Given the description of an element on the screen output the (x, y) to click on. 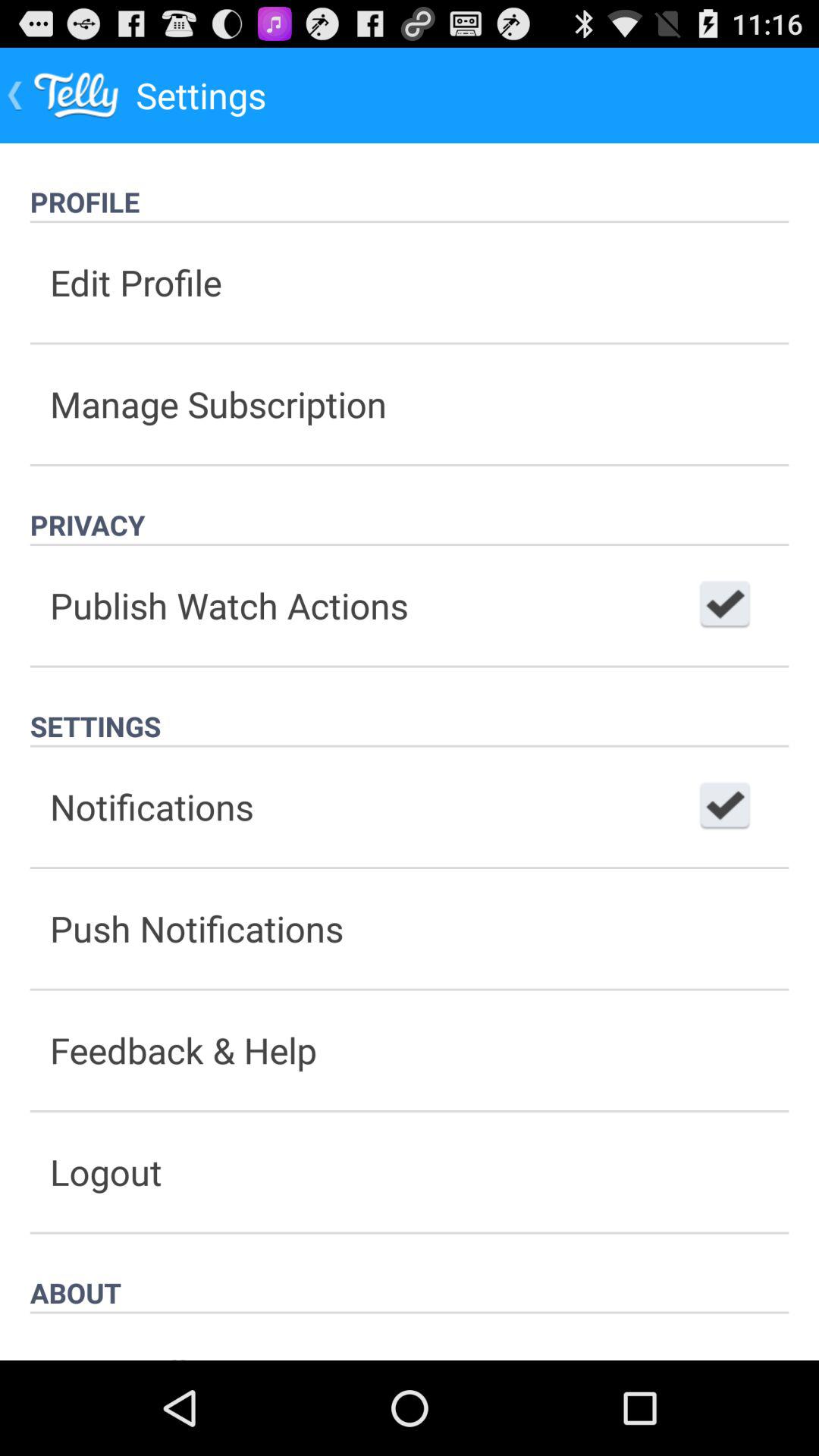
turn on the button below the edit profile icon (409, 404)
